Given the description of an element on the screen output the (x, y) to click on. 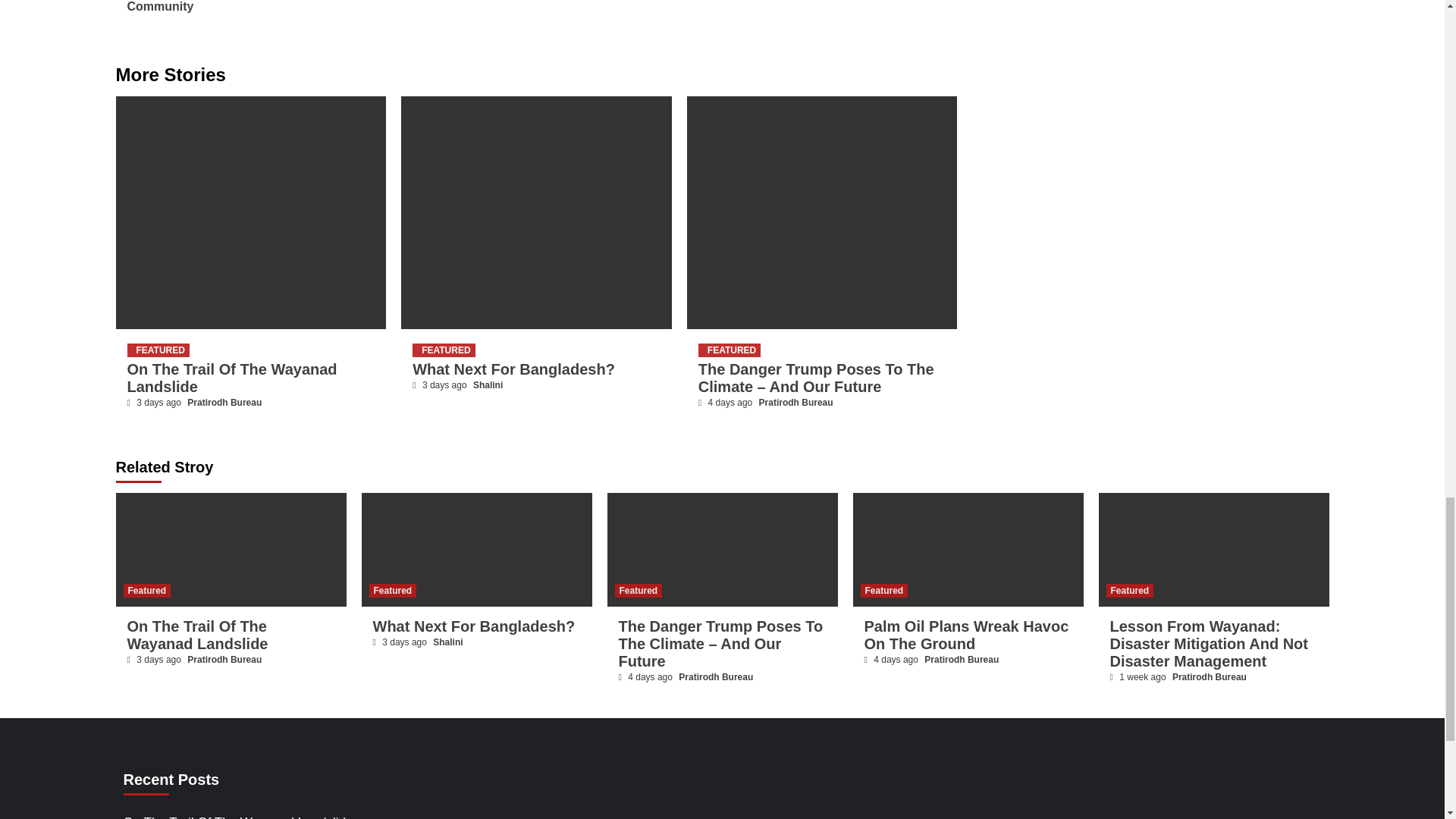
Shalini (487, 385)
On The Trail Of The Wayanad Landslide (232, 377)
What Next For Bangladesh? (513, 369)
FEATURED (443, 350)
Pratirodh Bureau (795, 402)
Pratirodh Bureau (224, 402)
FEATURED (158, 350)
FEATURED (729, 350)
